Given the description of an element on the screen output the (x, y) to click on. 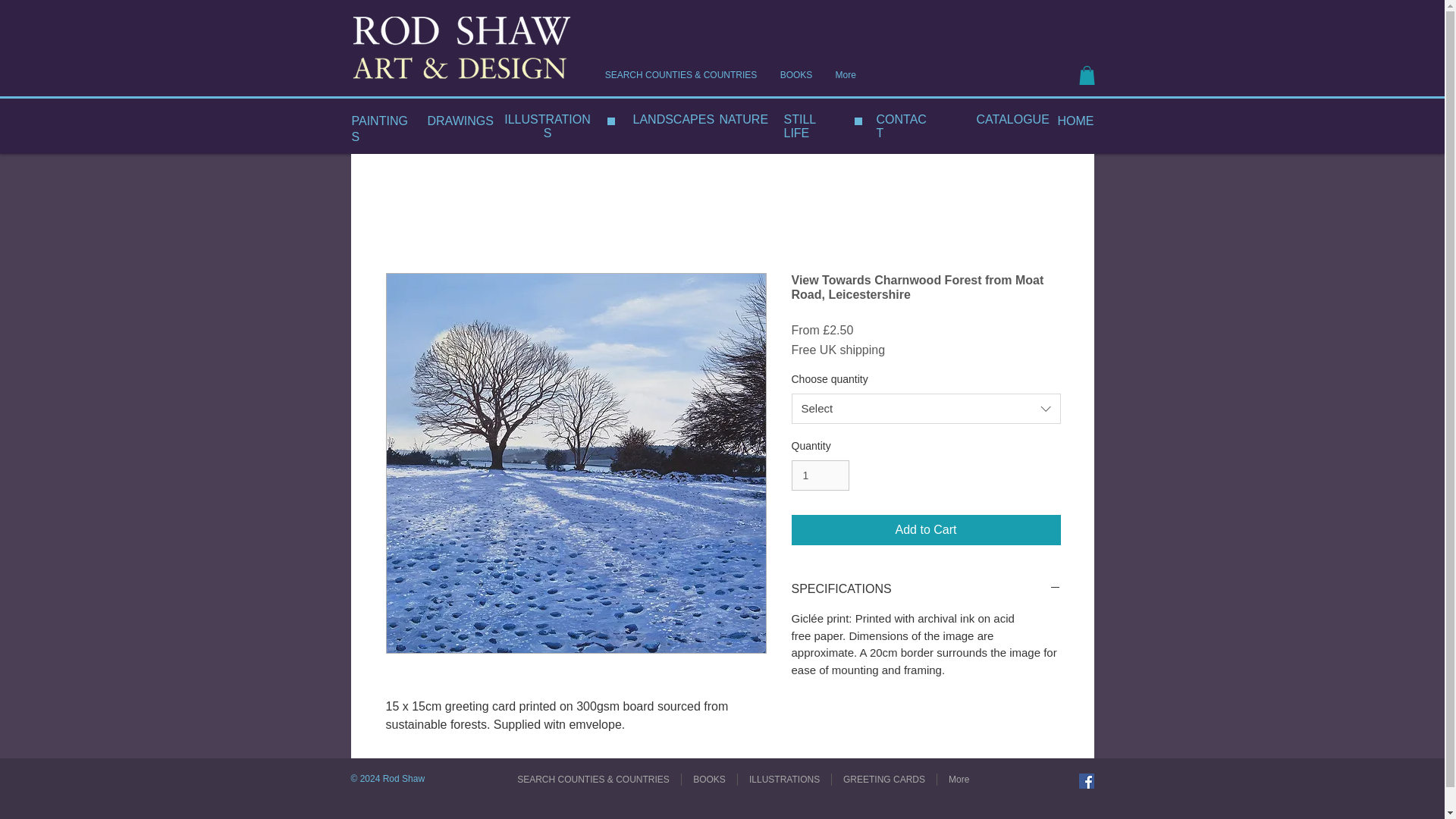
ILLUSTRATIONS (547, 126)
1 (820, 475)
PAINTINGS (379, 128)
NATURE  (745, 119)
LANDSCAPES (672, 119)
DRAWINGS (460, 120)
CONTACT (901, 126)
STILL LIFE (799, 126)
BOOKS (796, 74)
rod-shaw-art-design-wordpress-300x114.png (461, 50)
CATALOGUE (1012, 119)
HOME (1075, 120)
